Given the description of an element on the screen output the (x, y) to click on. 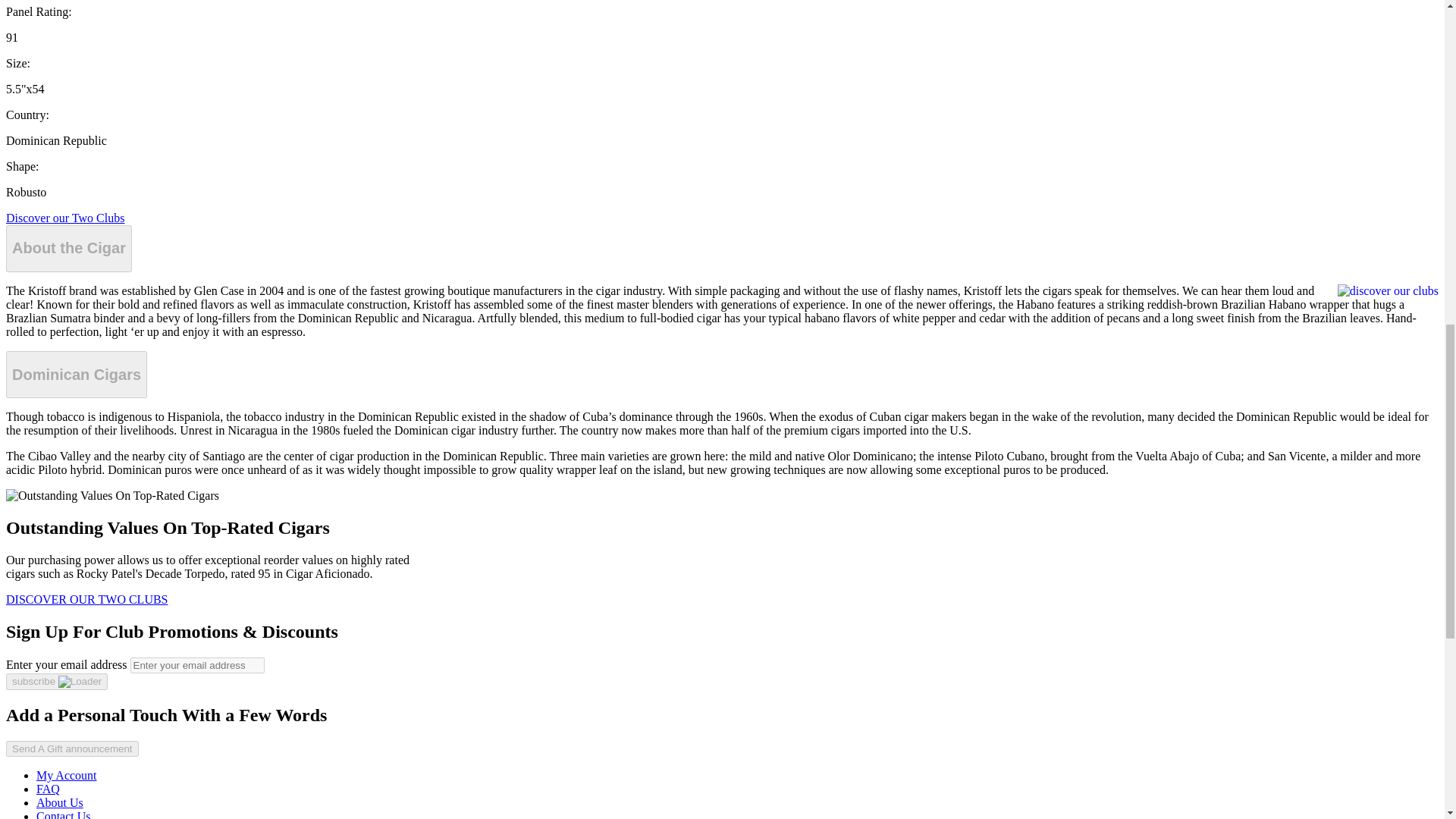
DISCOVER OUR TWO CLUBS (86, 599)
About the Cigar (68, 248)
Discover our Two Clubs (64, 217)
Dominican Cigars (76, 374)
